Given the description of an element on the screen output the (x, y) to click on. 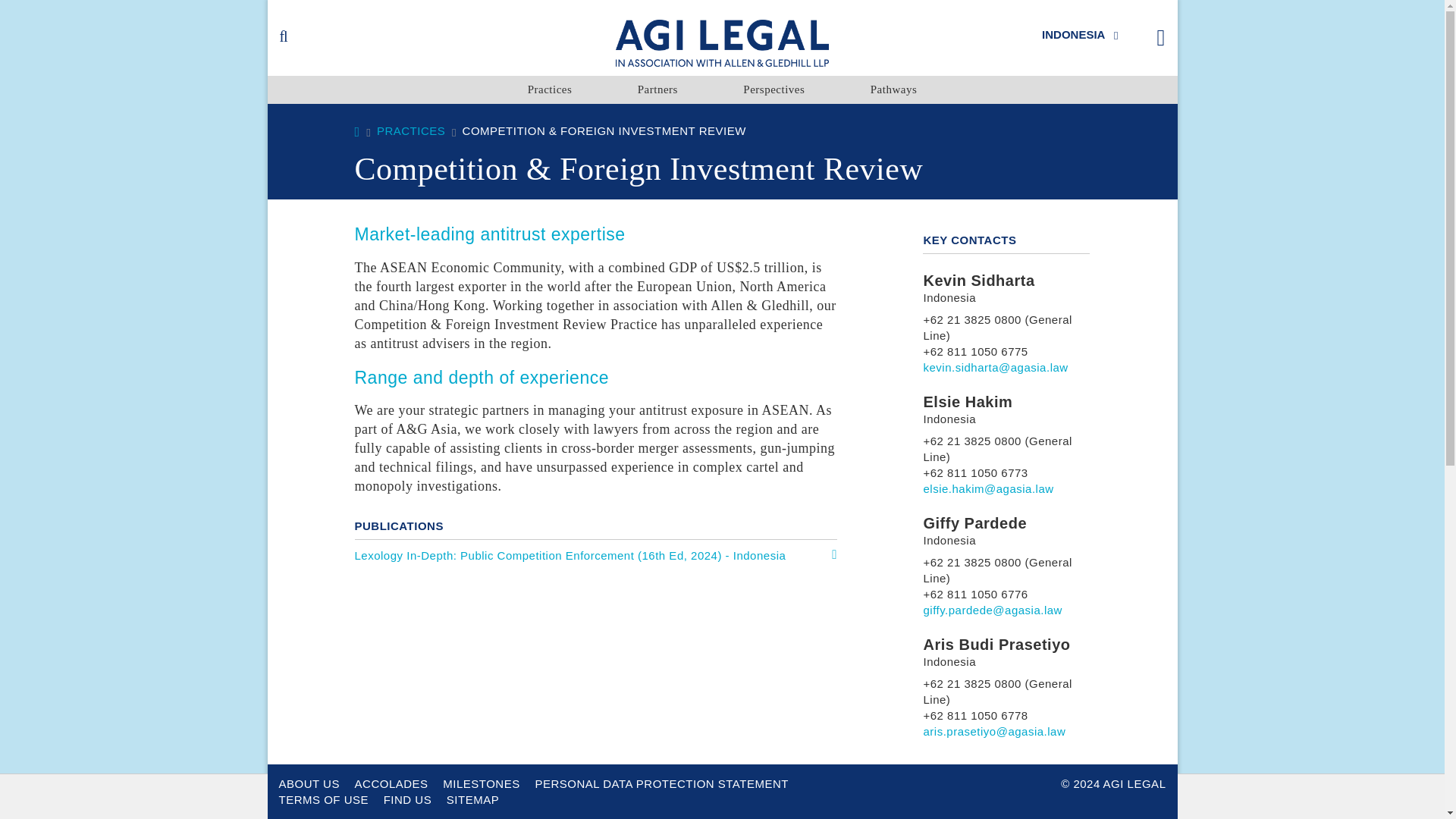
INDONESIA (1079, 33)
Practices (549, 90)
AGI Legal (721, 41)
